Given the description of an element on the screen output the (x, y) to click on. 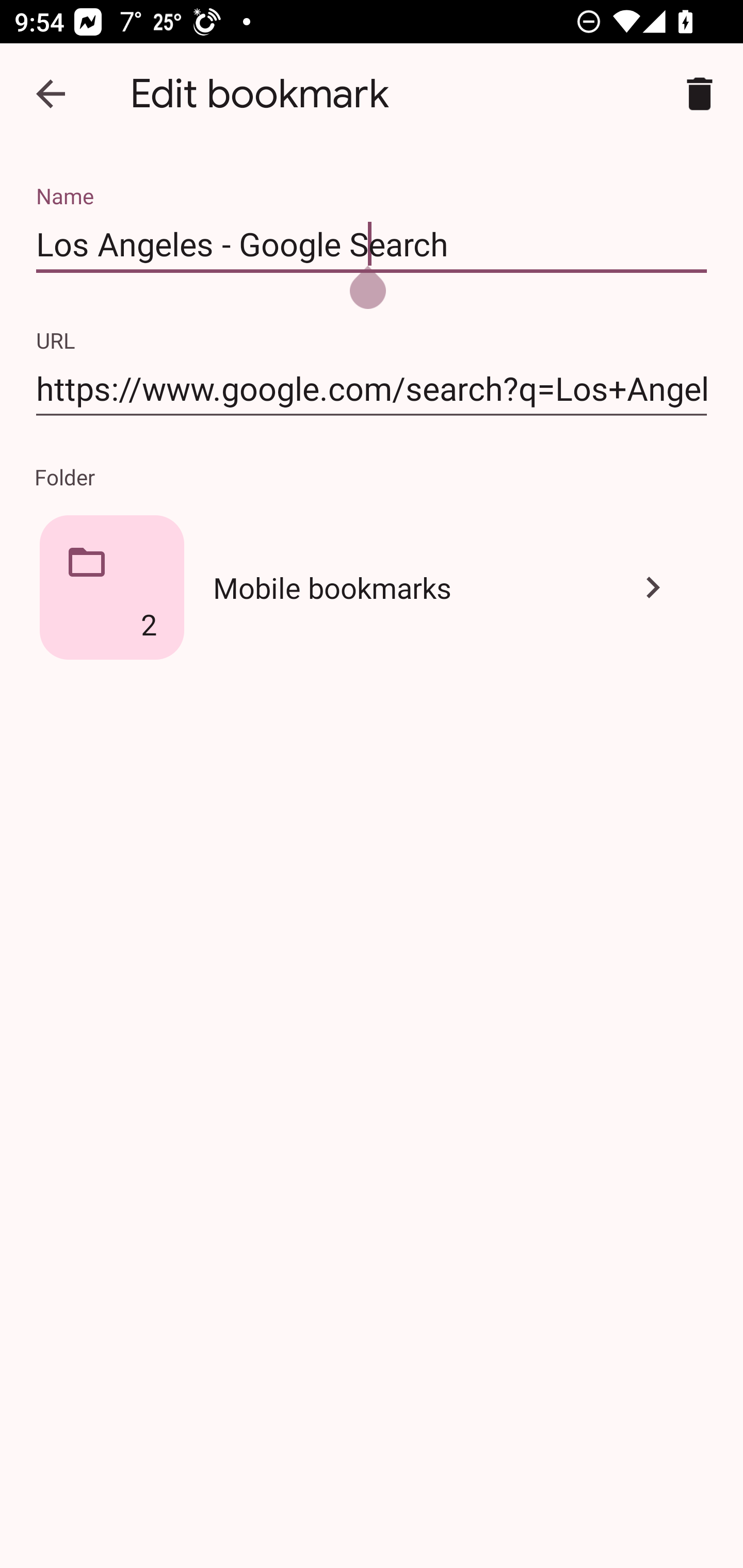
Navigate up (50, 93)
Delete bookmarks (699, 93)
Los Angeles - Google Search (371, 244)
Mobile bookmarks 2 bookmarks 2 Mobile bookmarks (371, 586)
